Given the description of an element on the screen output the (x, y) to click on. 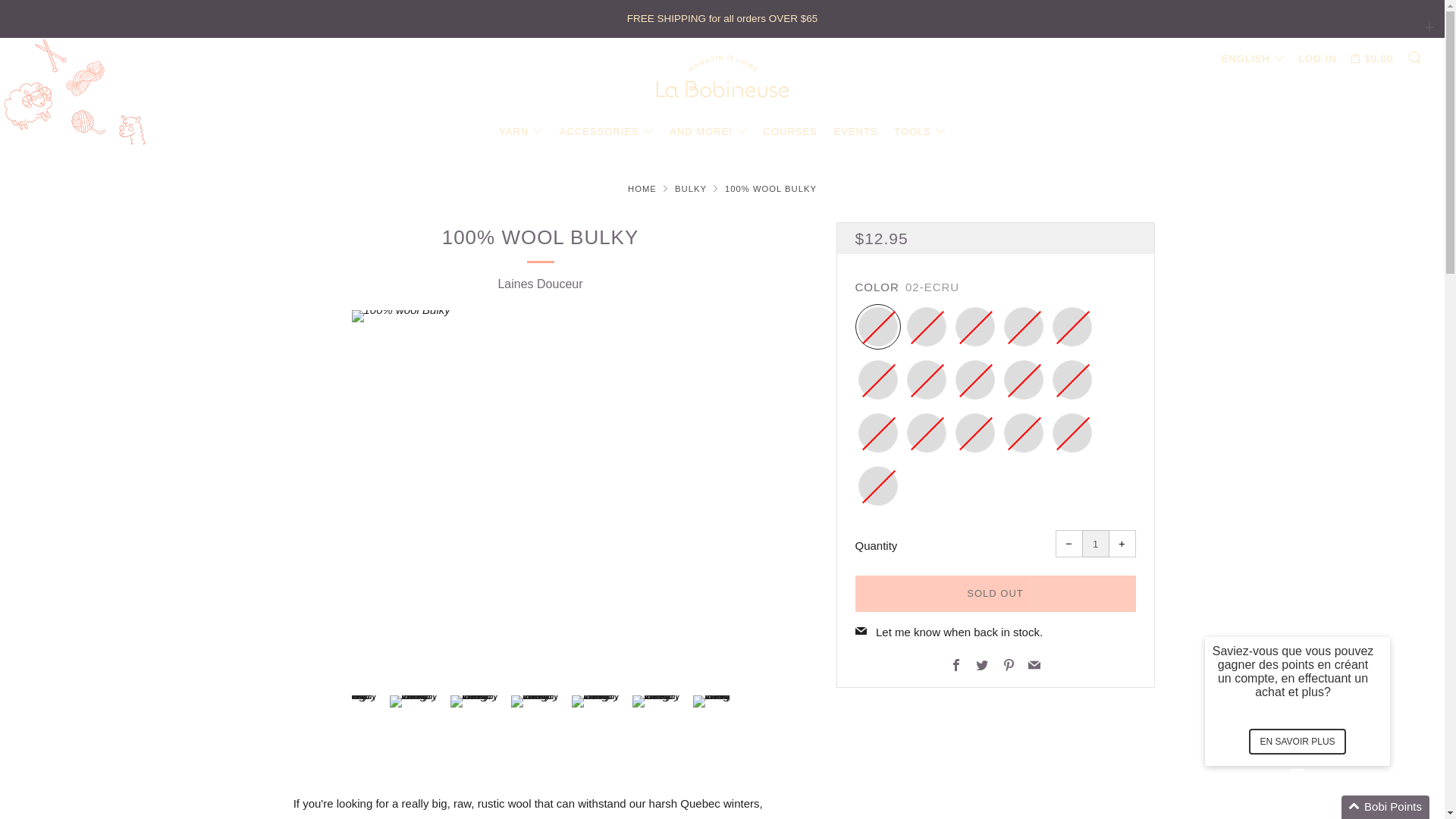
Cart (1372, 58)
